Given the description of an element on the screen output the (x, y) to click on. 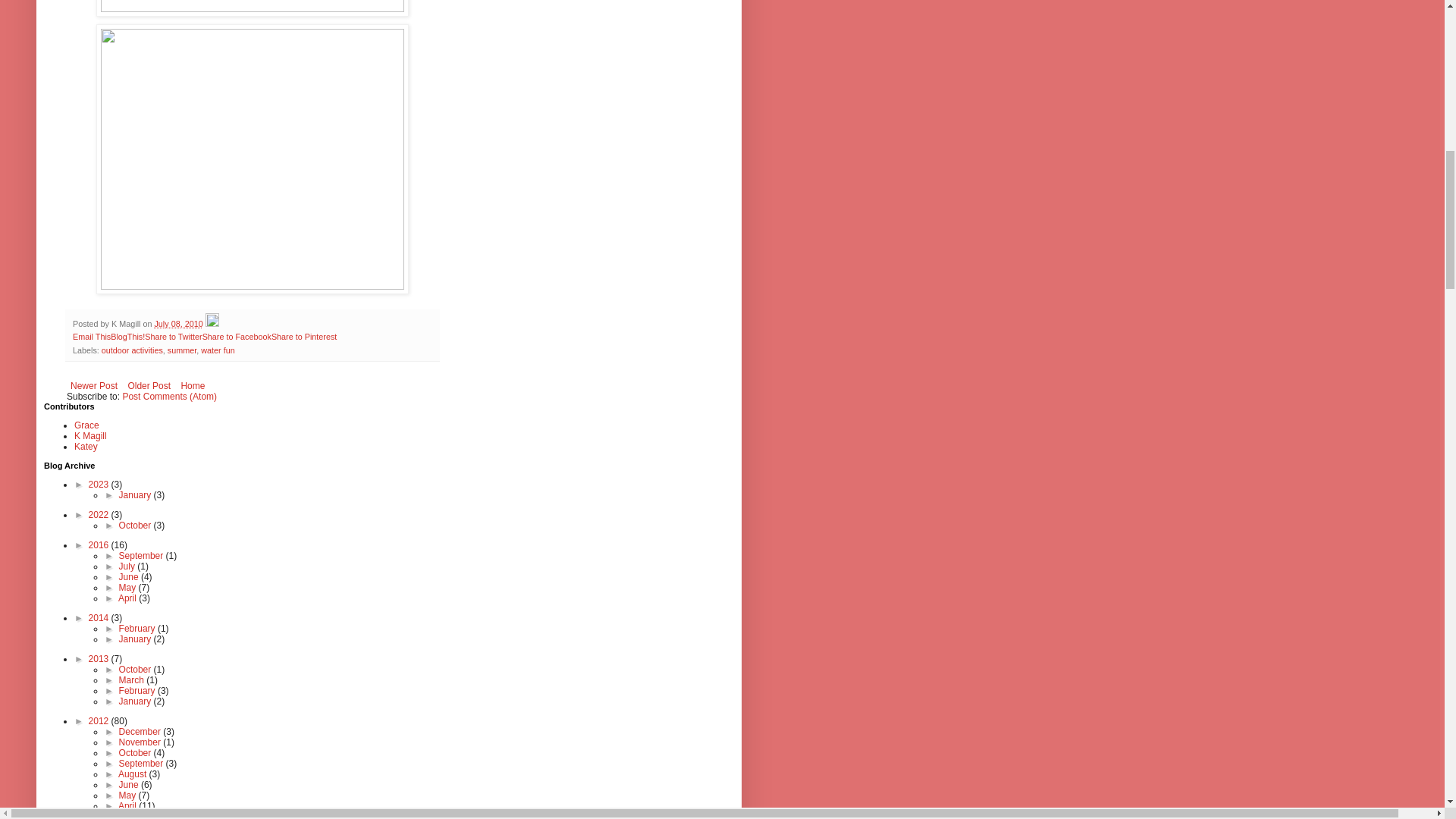
Email This (91, 336)
Older Post (148, 385)
Share to Twitter (173, 336)
summer (181, 349)
Edit Post (212, 323)
water fun (217, 349)
Share to Pinterest (303, 336)
Email This (91, 336)
Share to Pinterest (303, 336)
BlogThis! (127, 336)
Katey (85, 446)
BlogThis! (127, 336)
outdoor activities (132, 349)
Share to Facebook (236, 336)
Share to Twitter (173, 336)
